Given the description of an element on the screen output the (x, y) to click on. 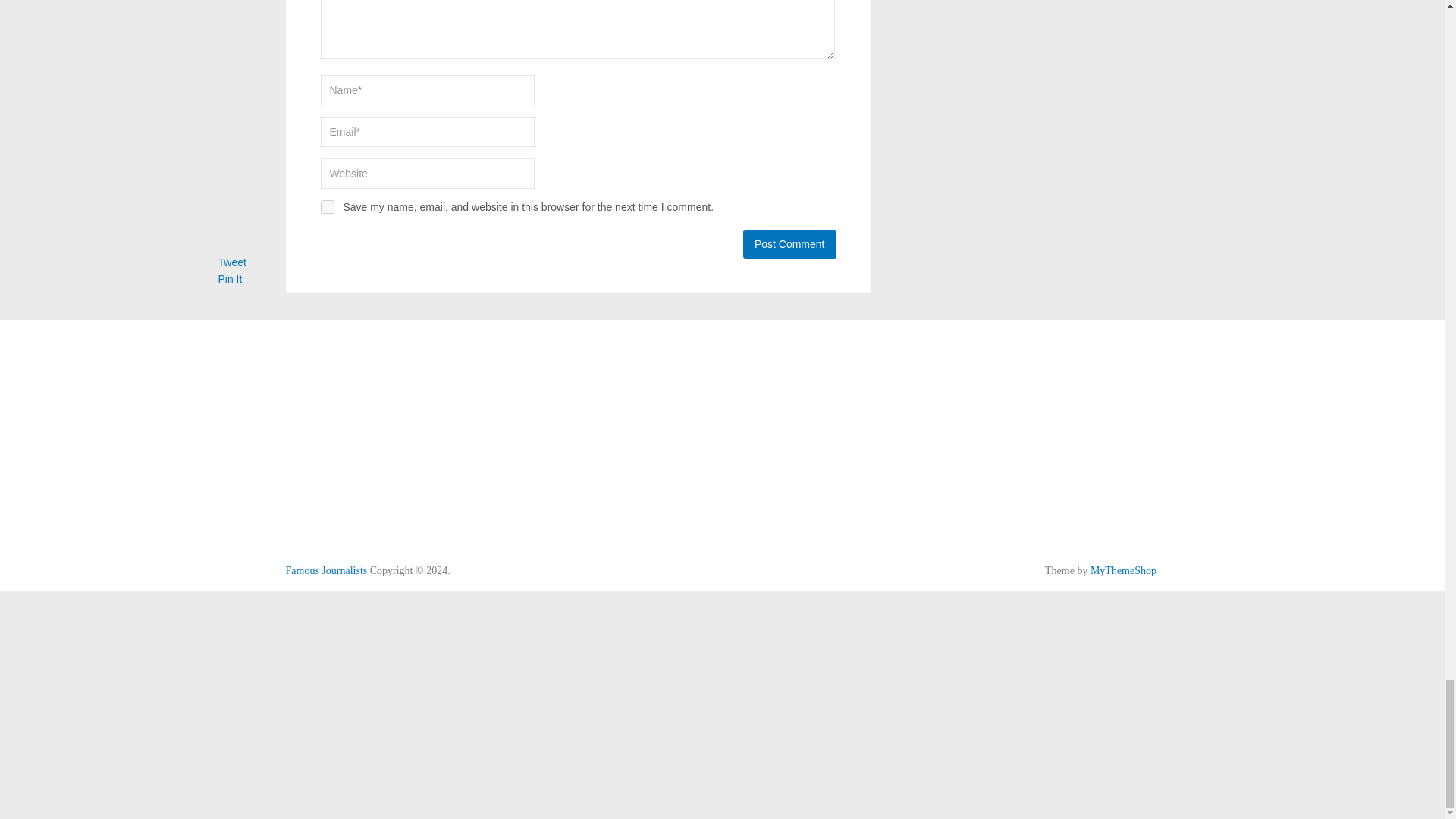
 Biographies of Famous Journalist in the World. (325, 570)
Post Comment (788, 244)
yes (326, 206)
